Given the description of an element on the screen output the (x, y) to click on. 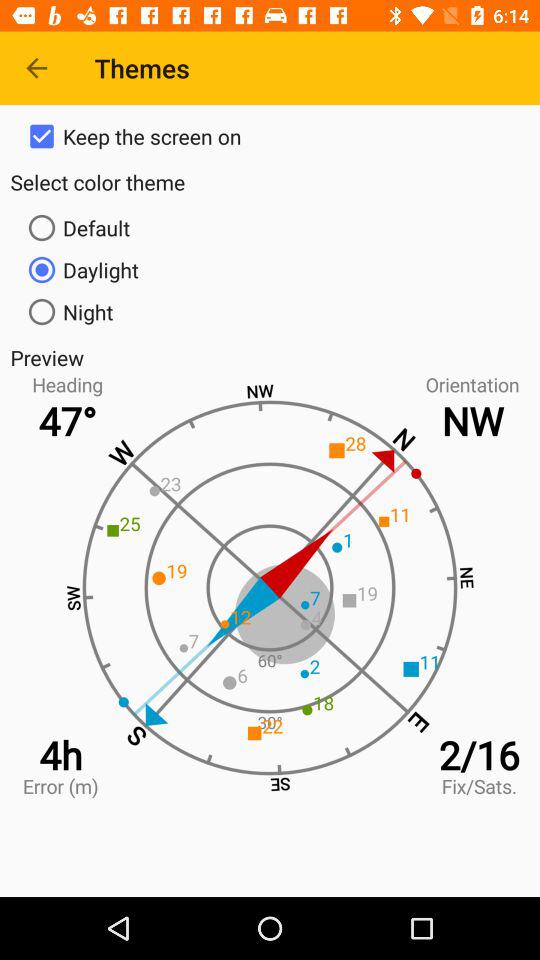
click the item next to themes (36, 68)
